Given the description of an element on the screen output the (x, y) to click on. 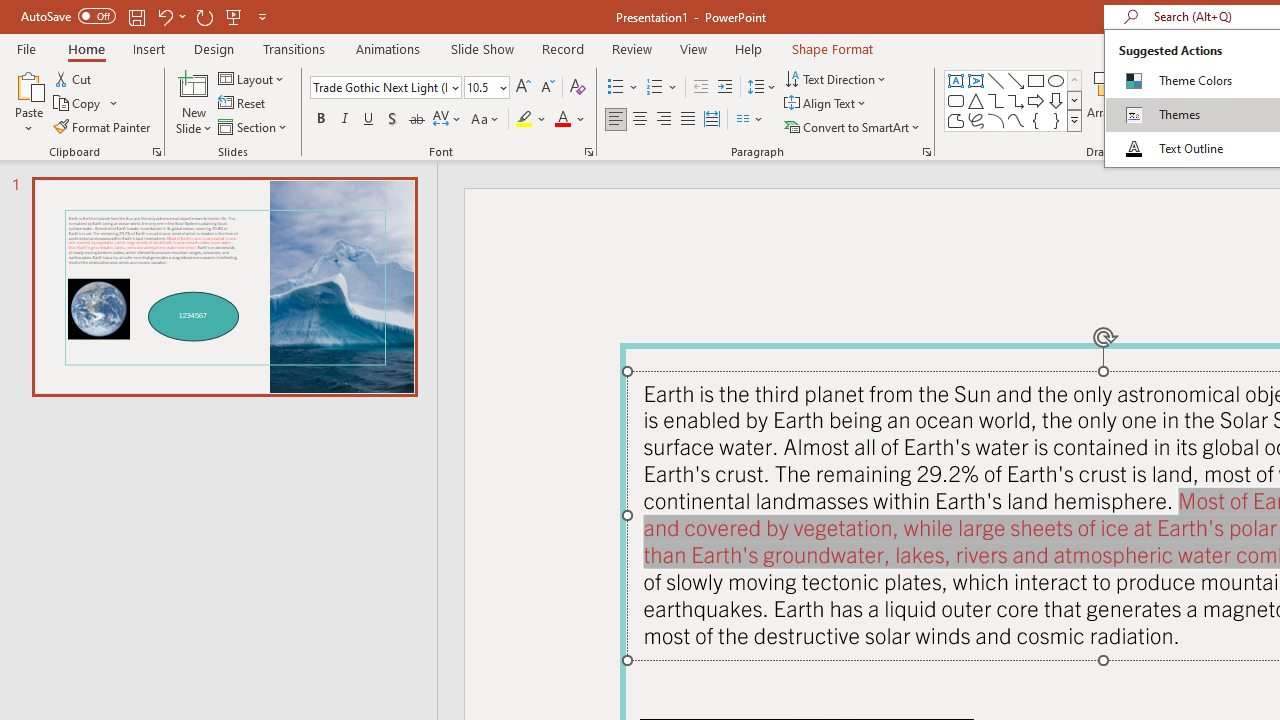
Format Painter (103, 126)
Text Direction (836, 78)
Increase Font Size (522, 87)
Character Spacing (447, 119)
